Given the description of an element on the screen output the (x, y) to click on. 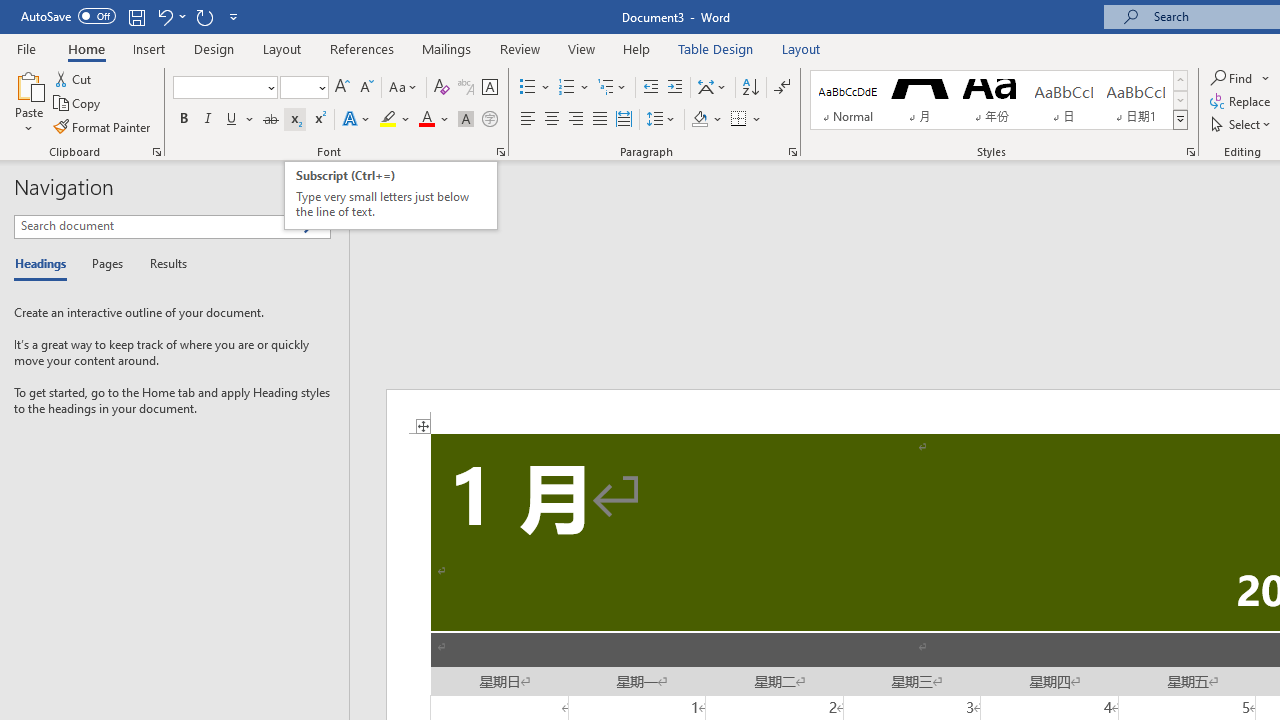
Undo Shrink Font (164, 15)
AutomationID: QuickStylesGallery (999, 99)
Replace... (1242, 101)
Decrease Indent (650, 87)
Asian Layout (712, 87)
Text Highlight Color (395, 119)
Italic (207, 119)
Align Left (527, 119)
